Given the description of an element on the screen output the (x, y) to click on. 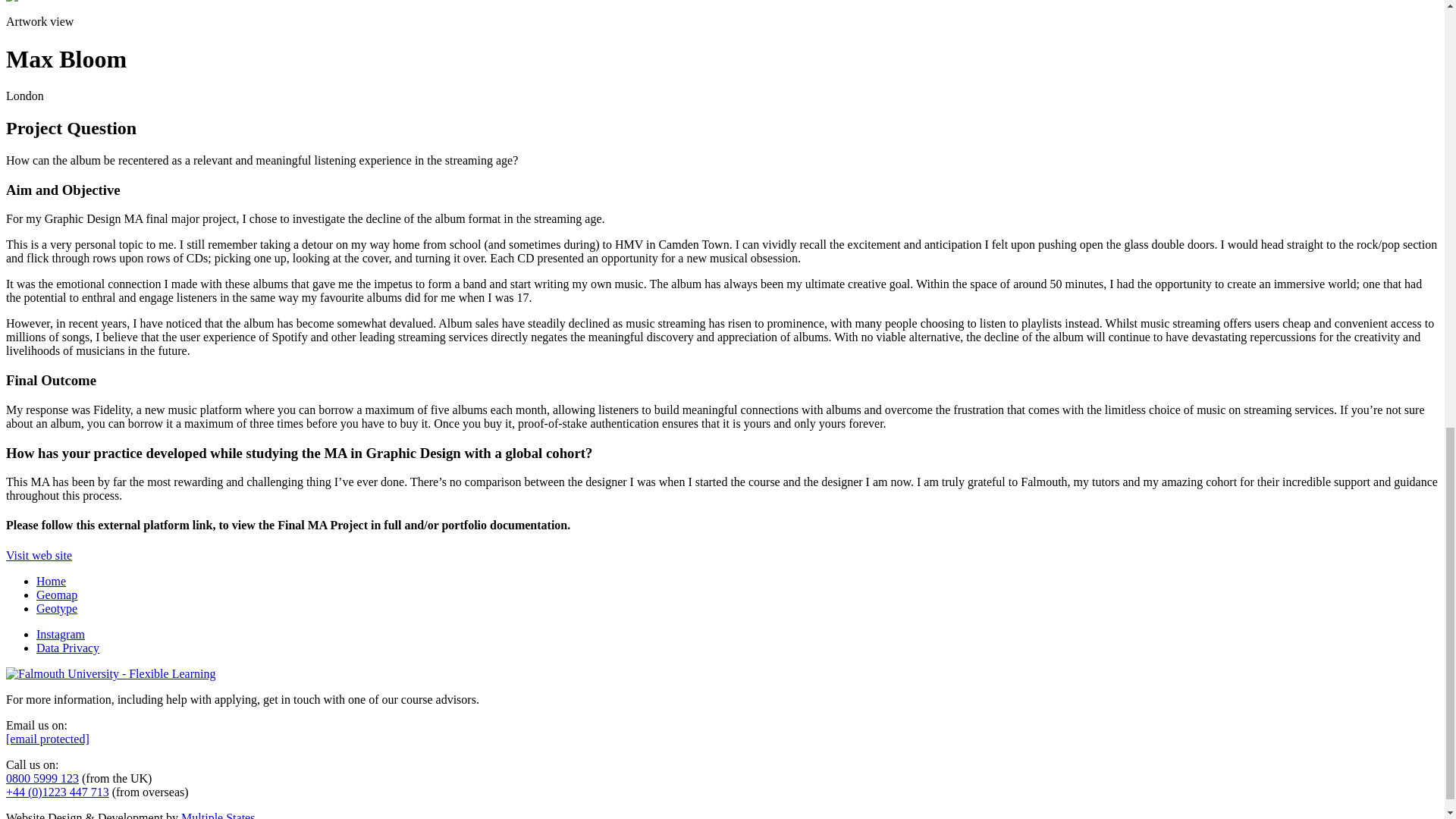
Home (50, 581)
Instagram (60, 634)
Geomap (56, 594)
0800 5999 123 (41, 778)
Visit web site (38, 554)
Geotype (56, 608)
Data Privacy (67, 647)
